Given the description of an element on the screen output the (x, y) to click on. 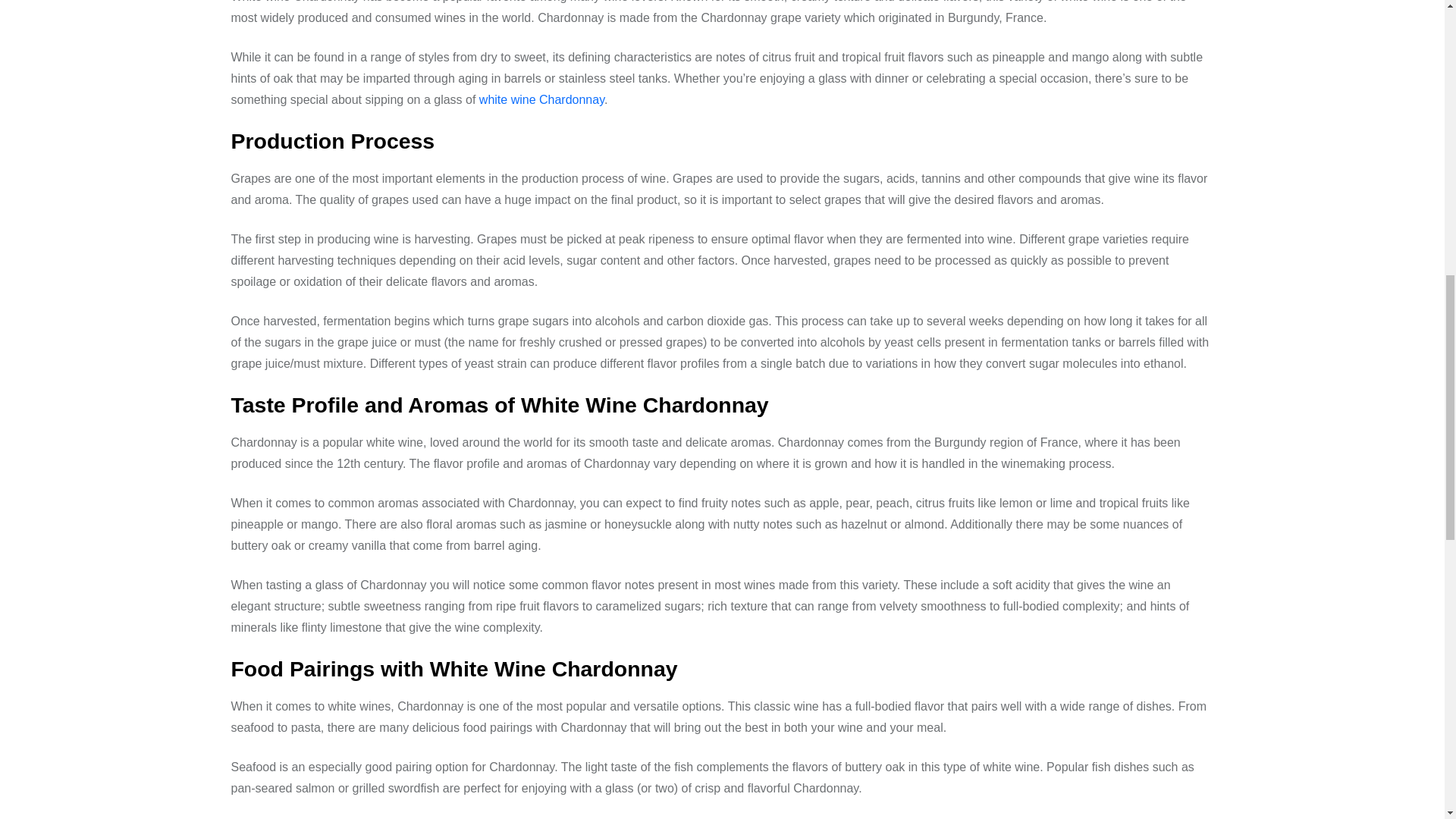
white wine Chardonnay (541, 99)
